Given the description of an element on the screen output the (x, y) to click on. 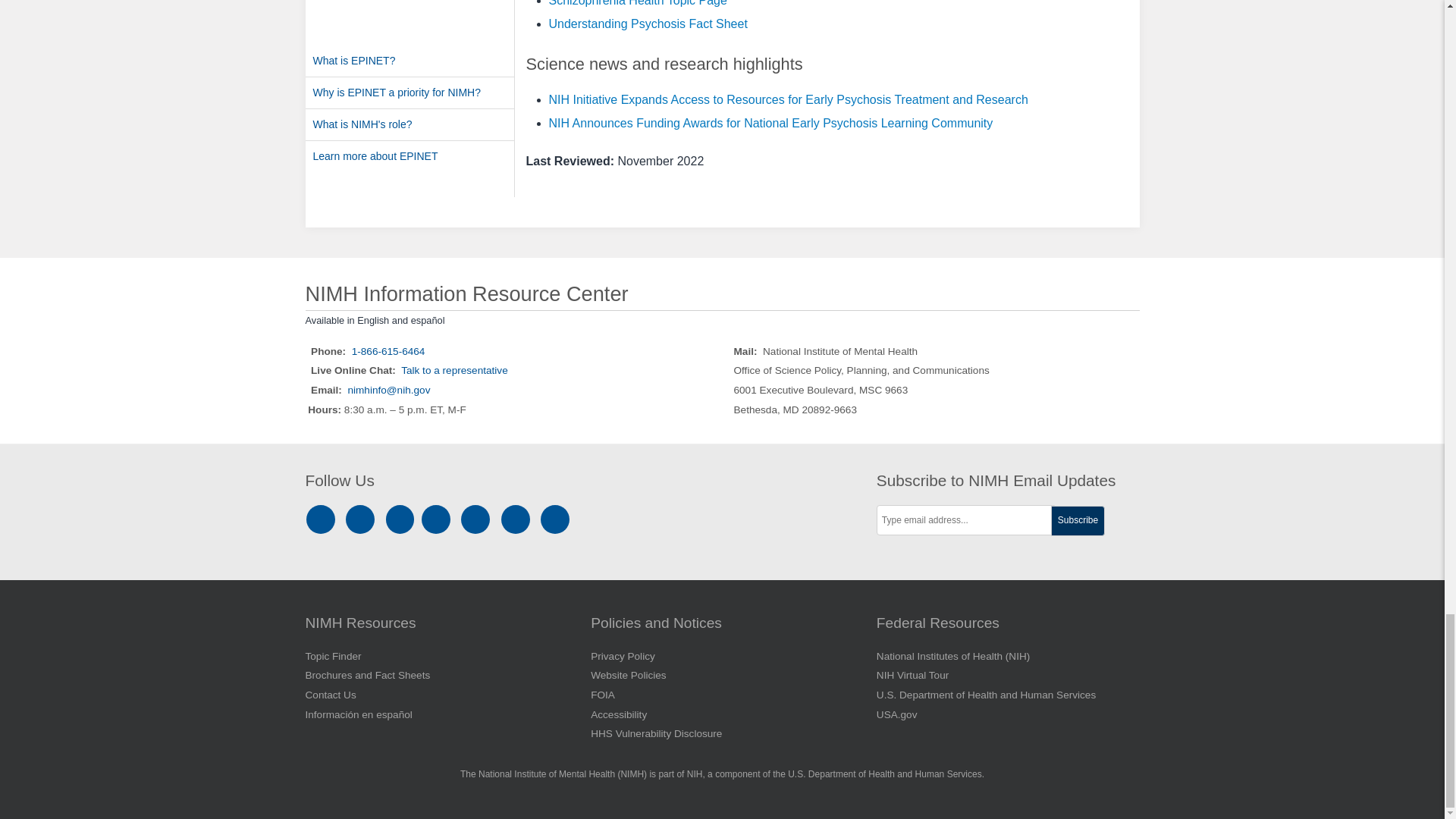
NIMH Newsletters (515, 518)
Subscribe (1078, 521)
NIMH News Feeds (555, 518)
NIMH LinkedIn (402, 518)
NIMH Twitter (438, 518)
NIMH Facebook (363, 518)
NIMH Instagram (322, 518)
NIMH YouTube (478, 518)
